Given the description of an element on the screen output the (x, y) to click on. 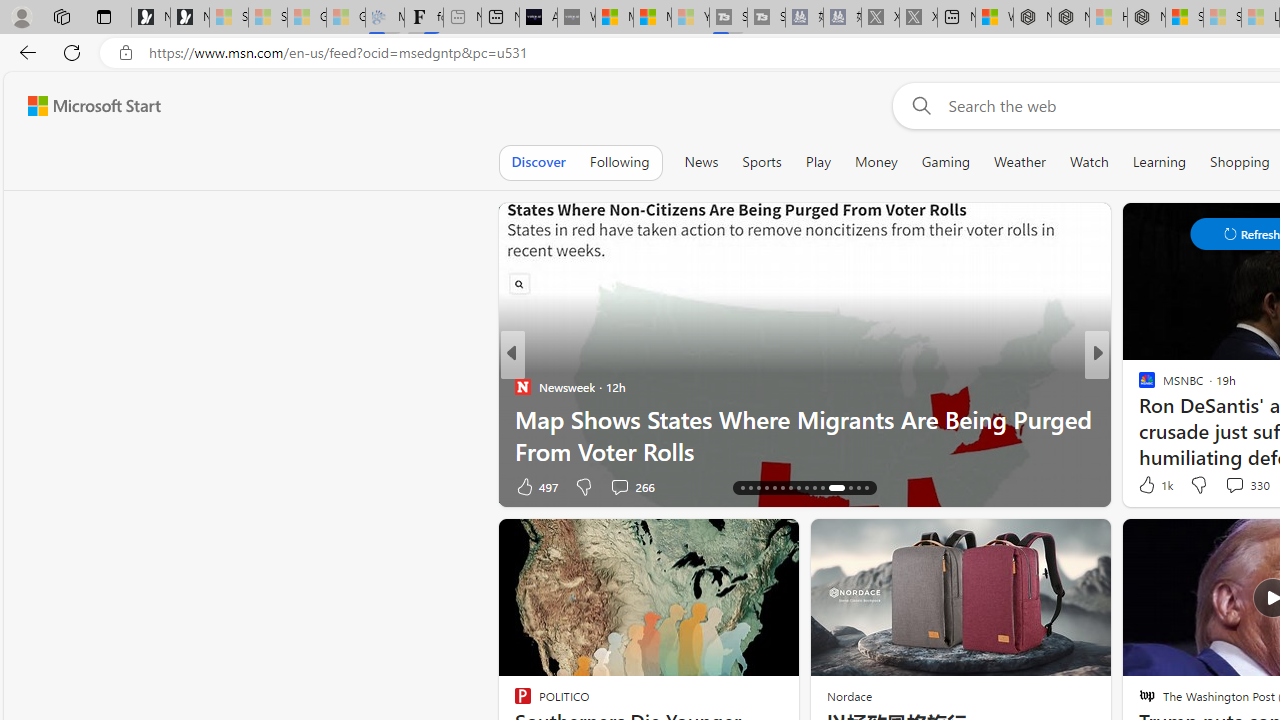
Hide this story (738, 542)
Money (875, 161)
News (701, 162)
View comments 96 Comment (1234, 485)
Learning (1159, 162)
Comments turned off for this story (1222, 486)
View comments 96 Comment (1244, 486)
Comments turned off for this story (1222, 485)
View comments 330 Comment (1234, 485)
